Given the description of an element on the screen output the (x, y) to click on. 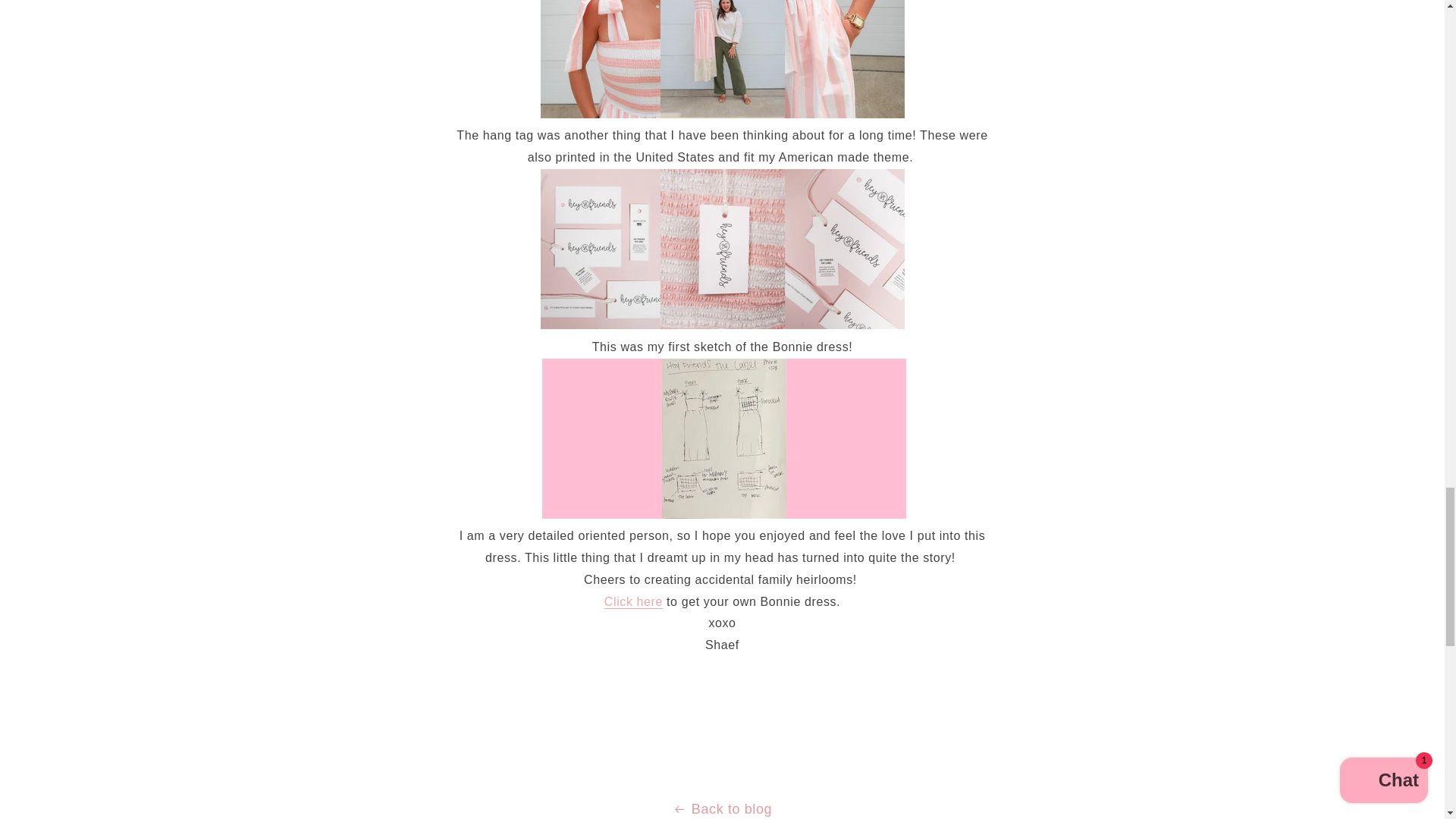
Click here (633, 601)
